Given the description of an element on the screen output the (x, y) to click on. 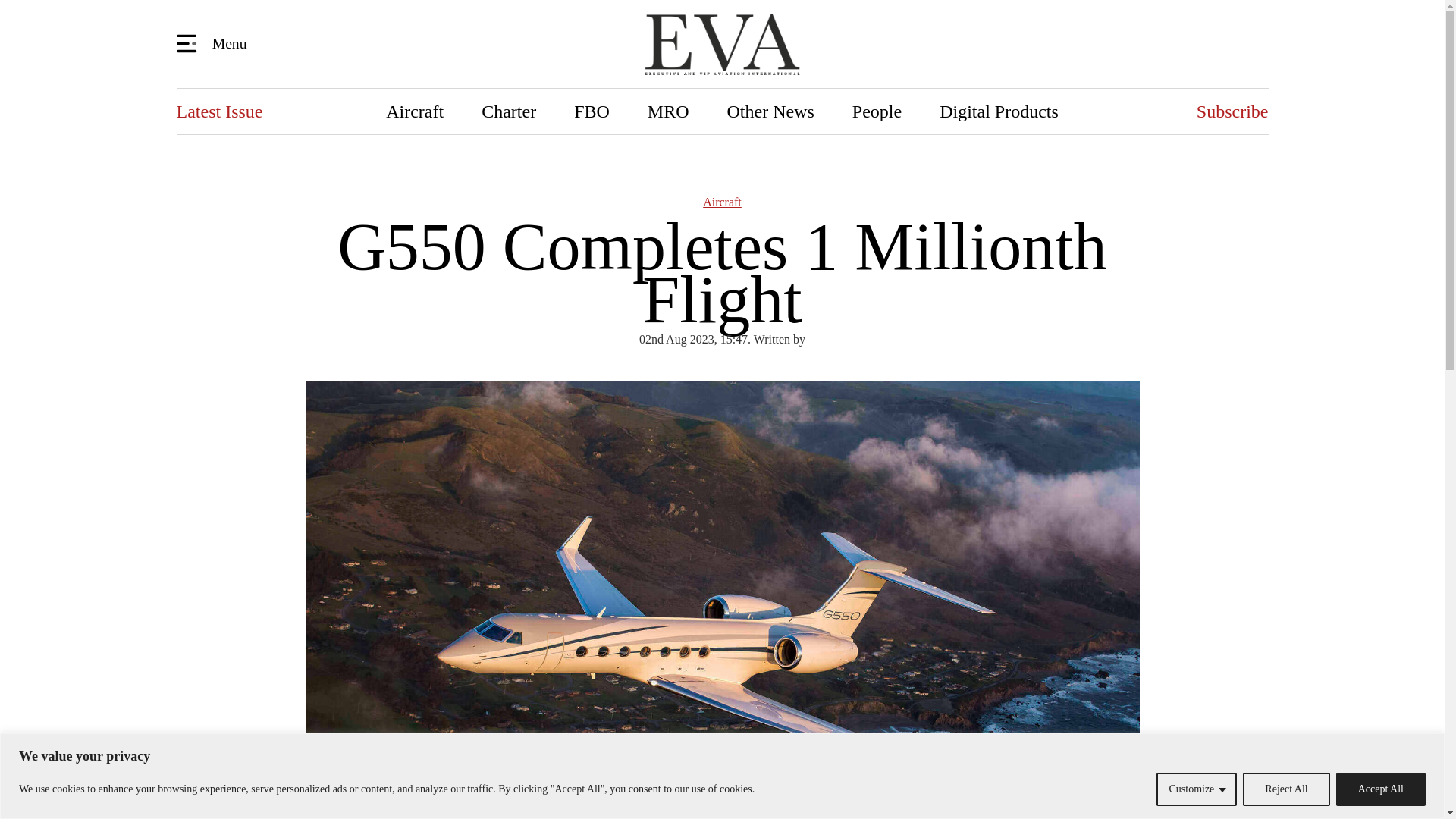
Menu (213, 42)
Customize (1196, 788)
Reject All (1286, 788)
Aircraft (414, 111)
Digital Products (998, 111)
Charter (508, 111)
FBO (591, 111)
Other News (769, 111)
People (876, 111)
MRO (667, 111)
Latest Issue (219, 111)
Subscribe (1232, 111)
Accept All (1380, 788)
